Given the description of an element on the screen output the (x, y) to click on. 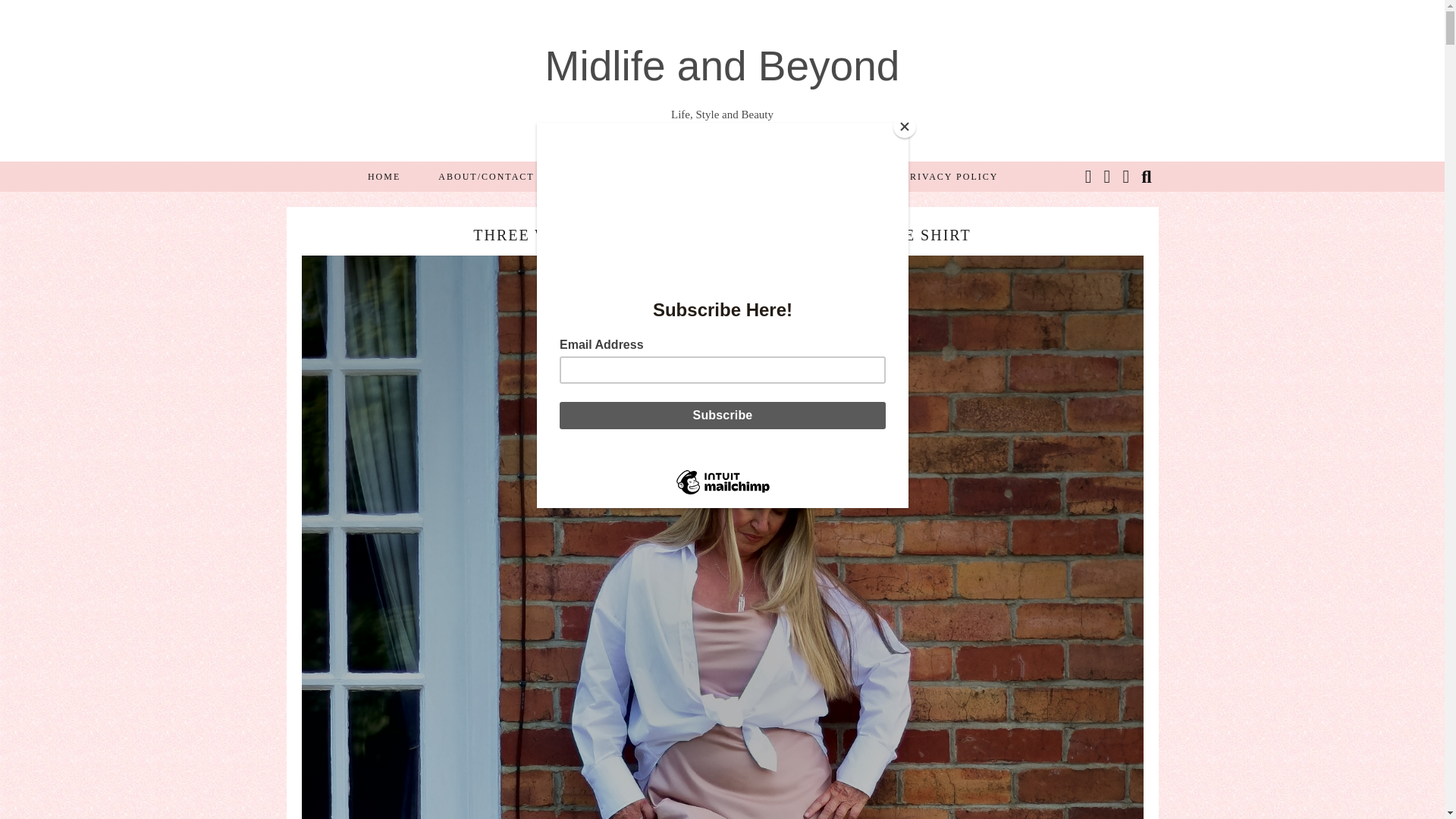
LIFESTYLE (835, 175)
Midlife and Beyond (721, 65)
Pinterest (1107, 175)
FASHION (596, 175)
Search (1147, 175)
PRIVACY POLICY (949, 175)
RSS Feed (1126, 175)
Midlife and Beyond (721, 65)
HOME (384, 175)
Instagram (1088, 175)
